Given the description of an element on the screen output the (x, y) to click on. 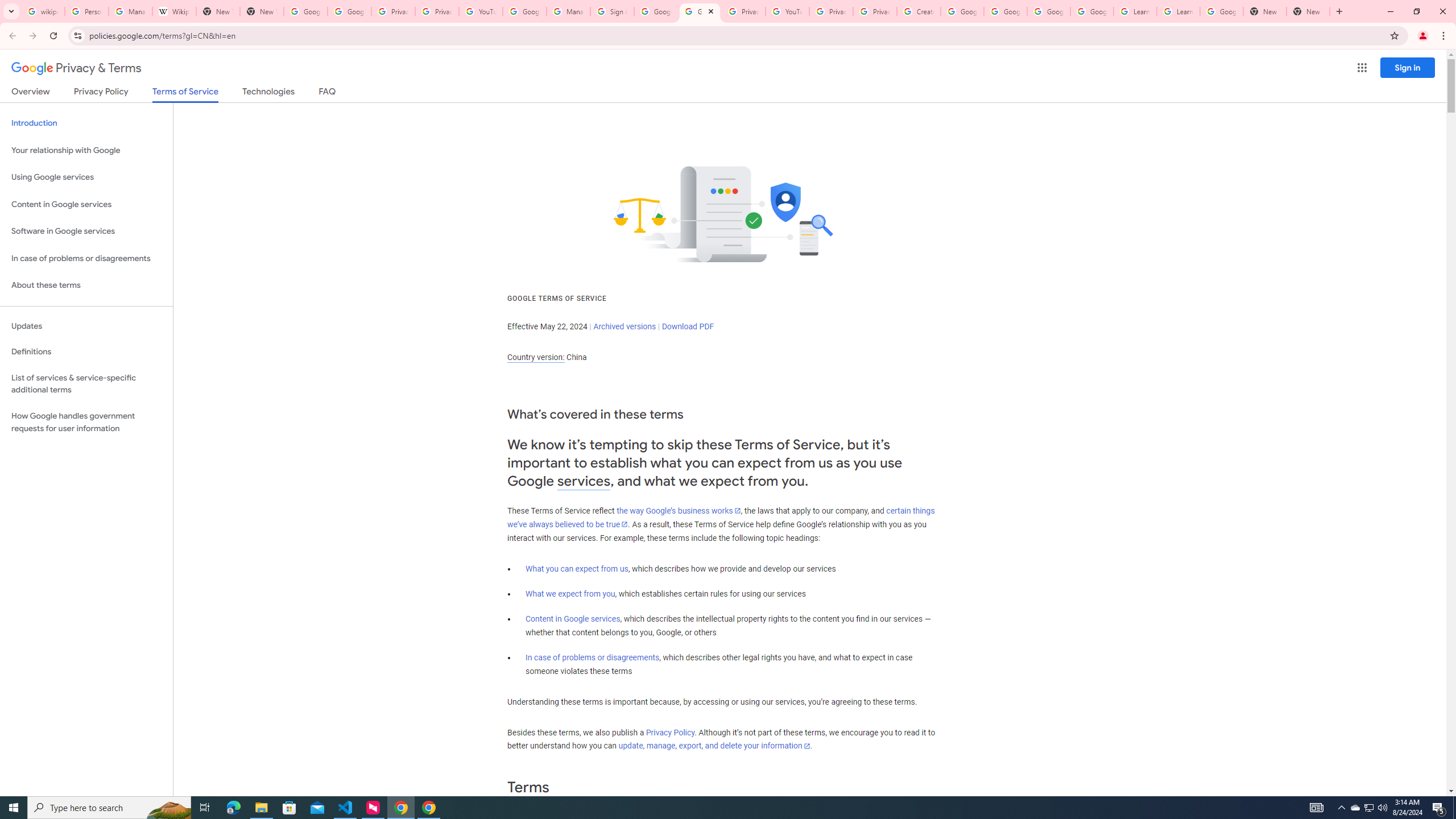
What you can expect from us (576, 568)
Google Account Help (524, 11)
update, manage, export, and delete your information (714, 746)
YouTube (786, 11)
Archived versions (624, 326)
Terms of Service (184, 94)
Technologies (268, 93)
Using Google services (86, 176)
services (583, 480)
Personalization & Google Search results - Google Search Help (86, 11)
